Given the description of an element on the screen output the (x, y) to click on. 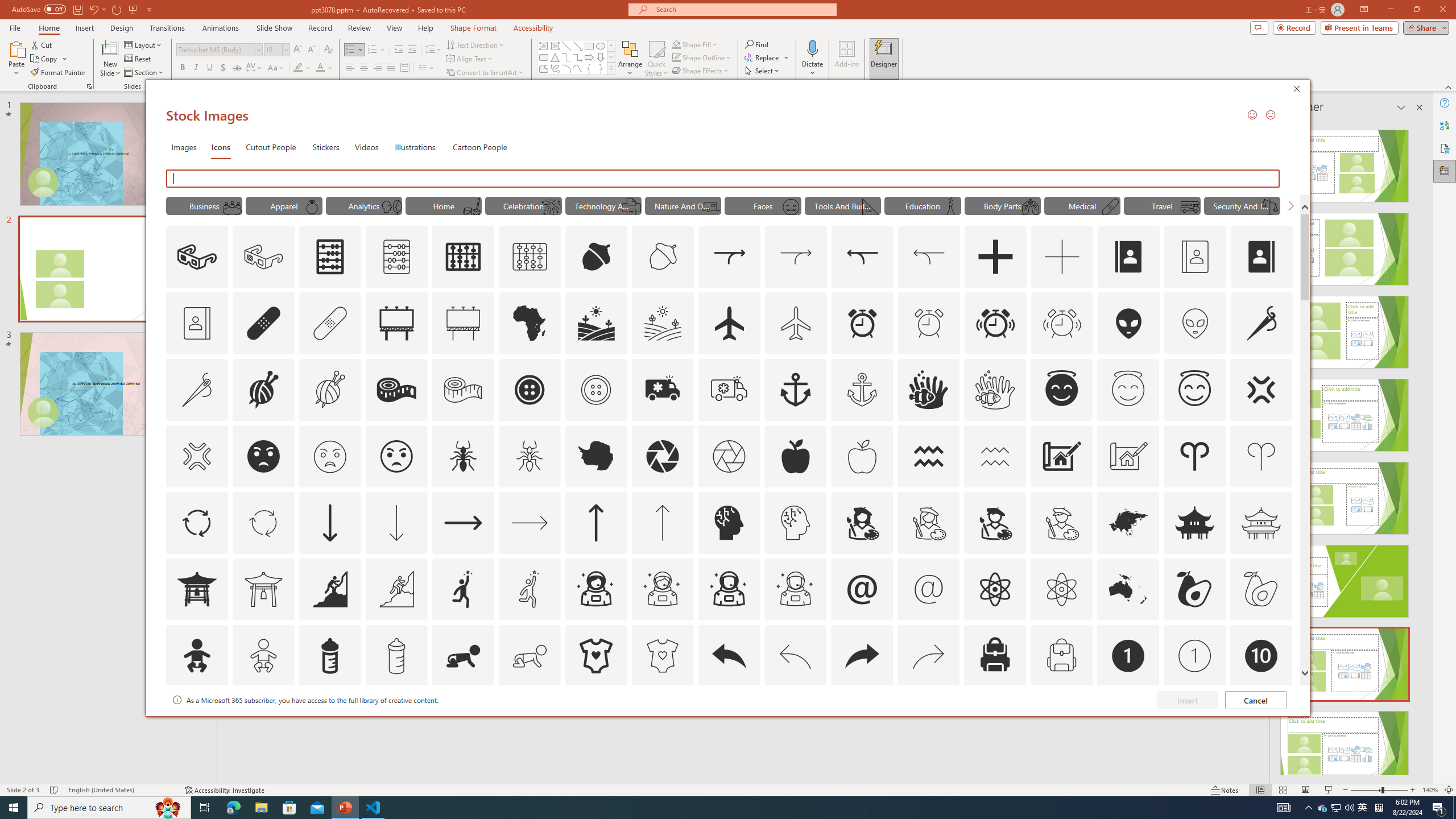
AutomationID: Icons_Baby (196, 655)
"Tools And Building" Icons. (842, 205)
AutomationID: Icons_AstronautFemale_M (662, 588)
outline (1194, 389)
AutomationID: Icons_AddressBook_RTL_M (197, 323)
AutomationID: Icons_ArrowRight_M (529, 522)
